Given the description of an element on the screen output the (x, y) to click on. 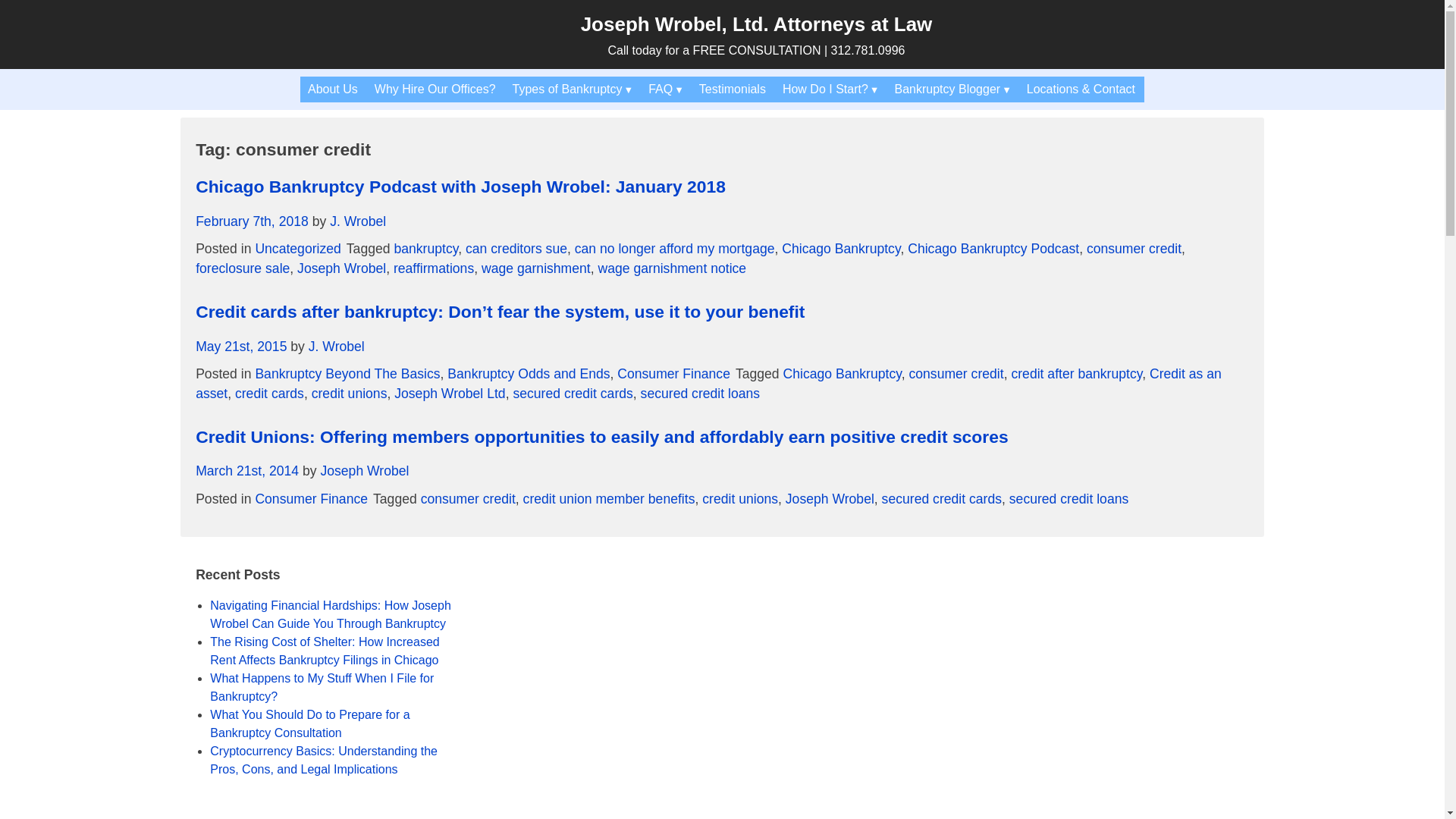
FAQ (665, 89)
February 7th, 2018 (251, 221)
J. Wrobel (357, 221)
Testimonials (732, 89)
bankruptcy (425, 248)
Uncategorized (297, 248)
Chicago Bankruptcy Podcast with Joseph Wrobel: January 2018 (460, 186)
Bankruptcy Blogger (952, 89)
can creditors sue (516, 248)
Joseph Wrobel, Ltd. Attorneys at Law (756, 24)
How Do I Start? (830, 89)
Why Hire Our Offices? (435, 89)
